Given the description of an element on the screen output the (x, y) to click on. 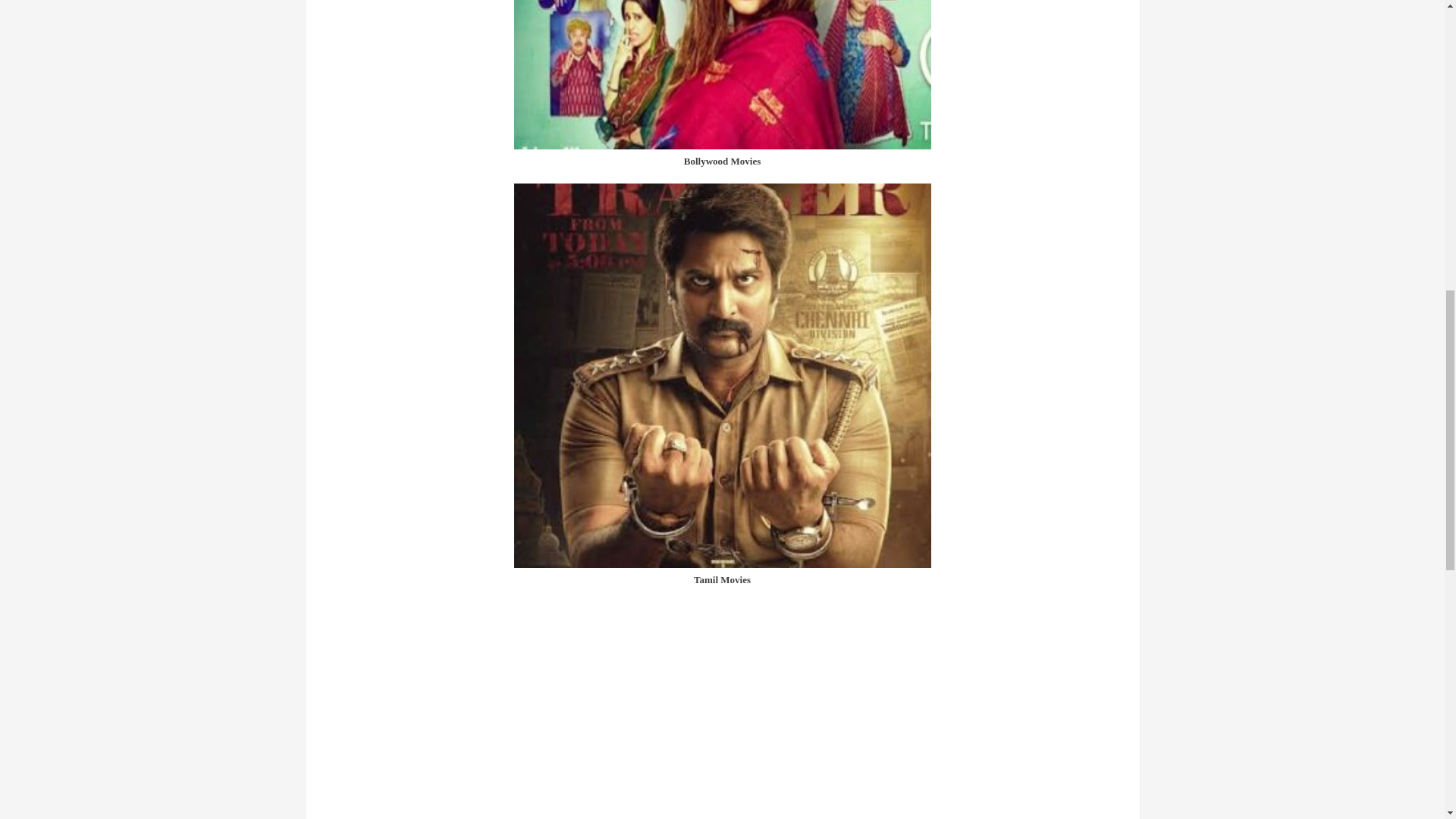
Bollywood Movies (722, 161)
Tamil Movies (722, 579)
